Given the description of an element on the screen output the (x, y) to click on. 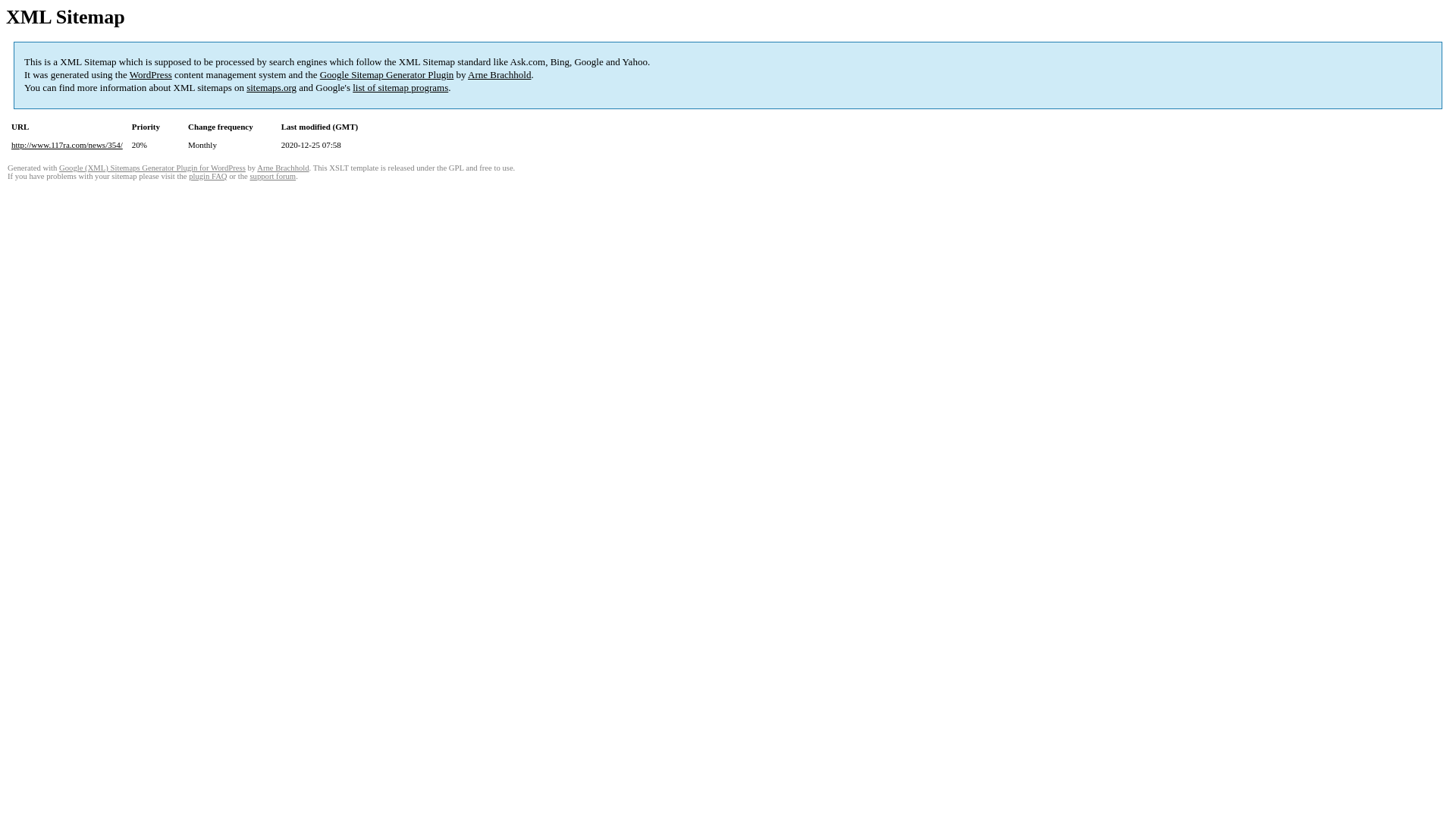
support forum Element type: text (272, 176)
Google (XML) Sitemaps Generator Plugin for WordPress Element type: text (152, 167)
http://www.117ra.com/news/354/ Element type: text (66, 144)
sitemaps.org Element type: text (271, 87)
WordPress Element type: text (150, 74)
Arne Brachhold Element type: text (498, 74)
plugin FAQ Element type: text (207, 176)
Google Sitemap Generator Plugin Element type: text (387, 74)
Arne Brachhold Element type: text (282, 167)
list of sitemap programs Element type: text (400, 87)
